Given the description of an element on the screen output the (x, y) to click on. 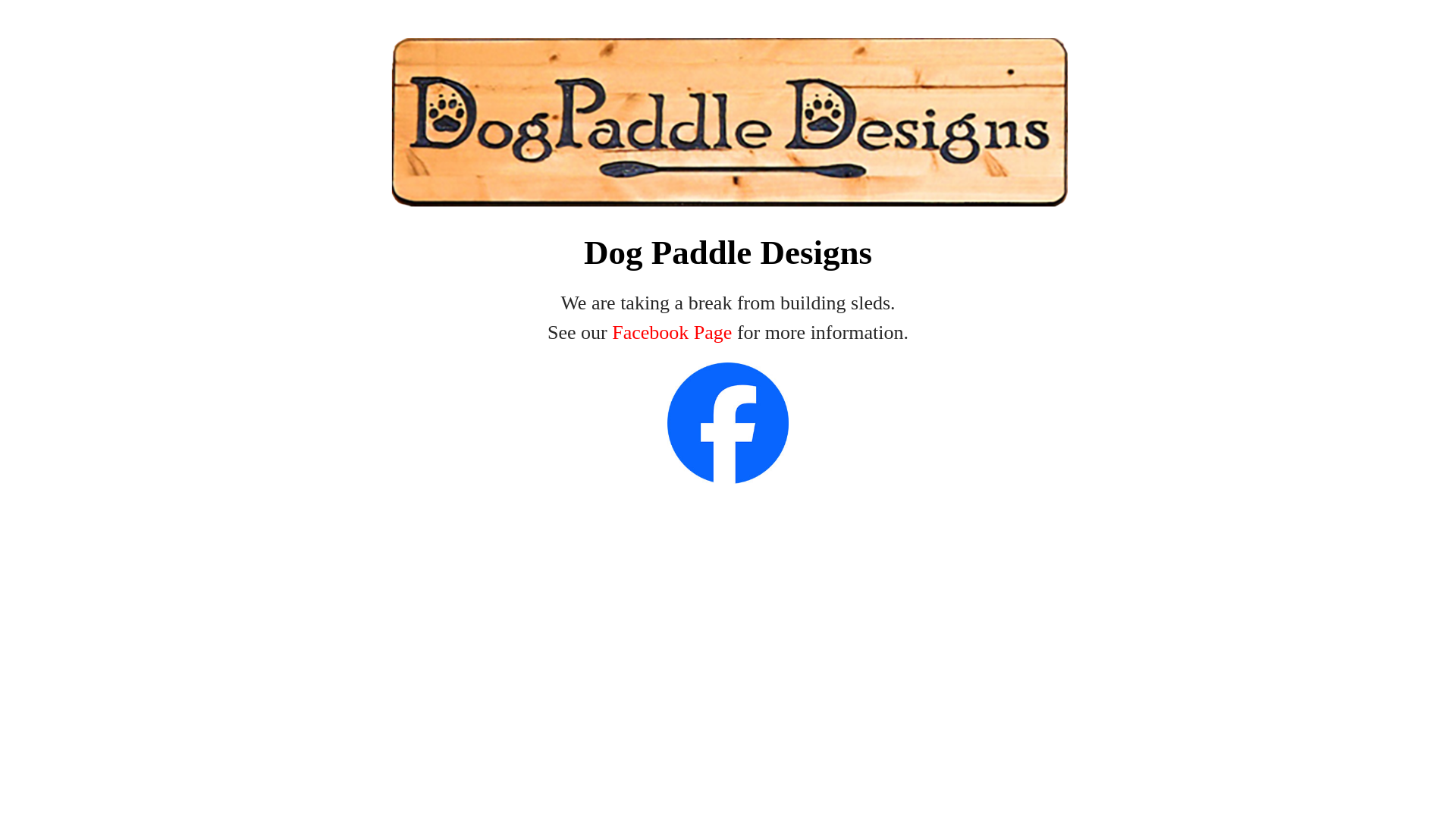
Facebook Page (671, 332)
